Given the description of an element on the screen output the (x, y) to click on. 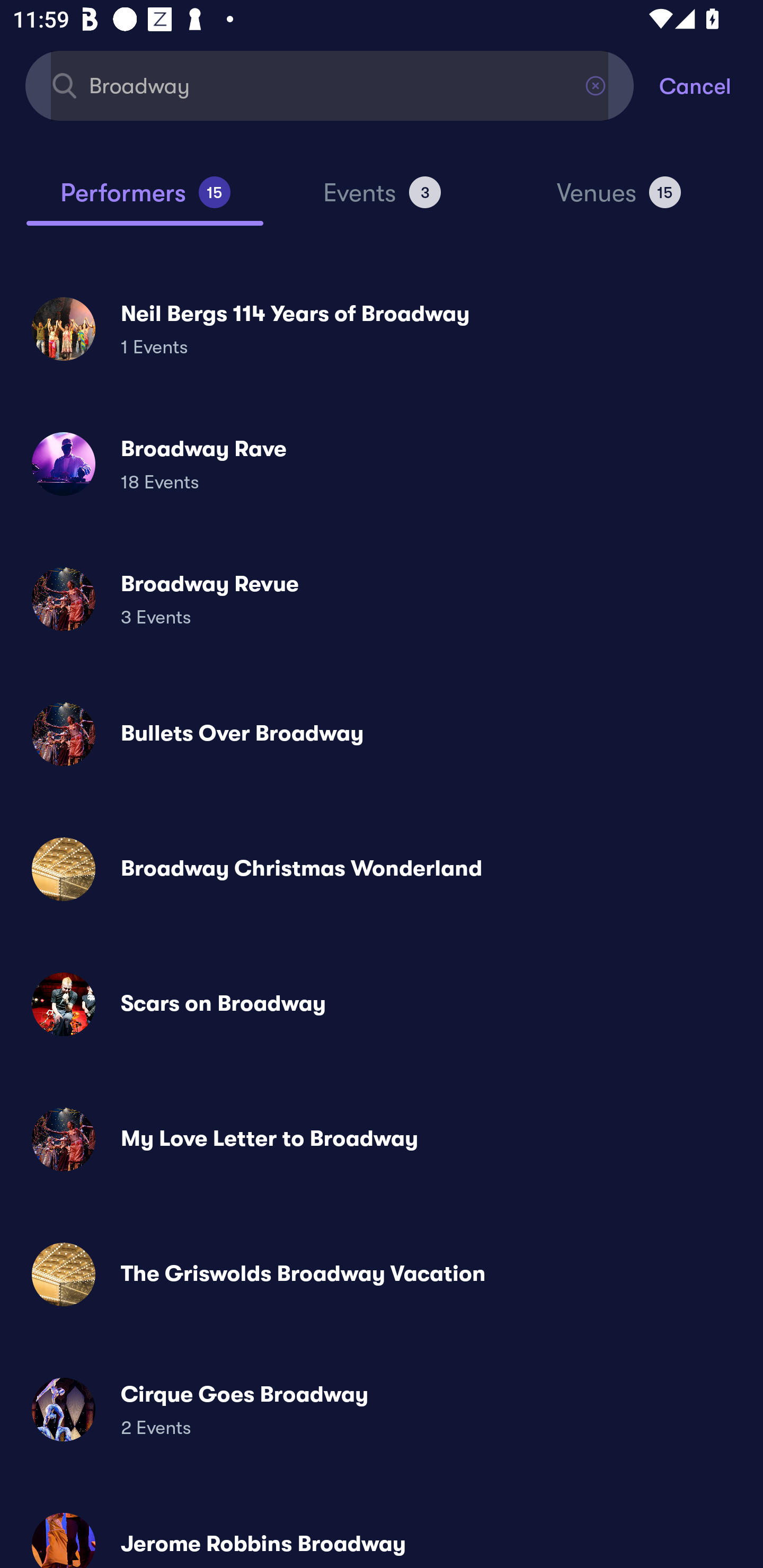
Broadway Find (329, 85)
Broadway Find (329, 85)
Cancel (711, 85)
Performers 15 (144, 200)
Events 3 (381, 200)
Venues 15 (618, 200)
Neil Bergs 114 Years of Broadway 1 Events (381, 328)
Broadway Rave 18 Events (381, 464)
Broadway Revue 3 Events (381, 598)
Bullets Over Broadway (381, 734)
Broadway Christmas Wonderland (381, 869)
Scars on Broadway (381, 1004)
My Love Letter to Broadway (381, 1138)
The Griswolds Broadway Vacation (381, 1273)
Cirque Goes Broadway 2 Events (381, 1409)
Jerome Robbins Broadway (381, 1532)
